Given the description of an element on the screen output the (x, y) to click on. 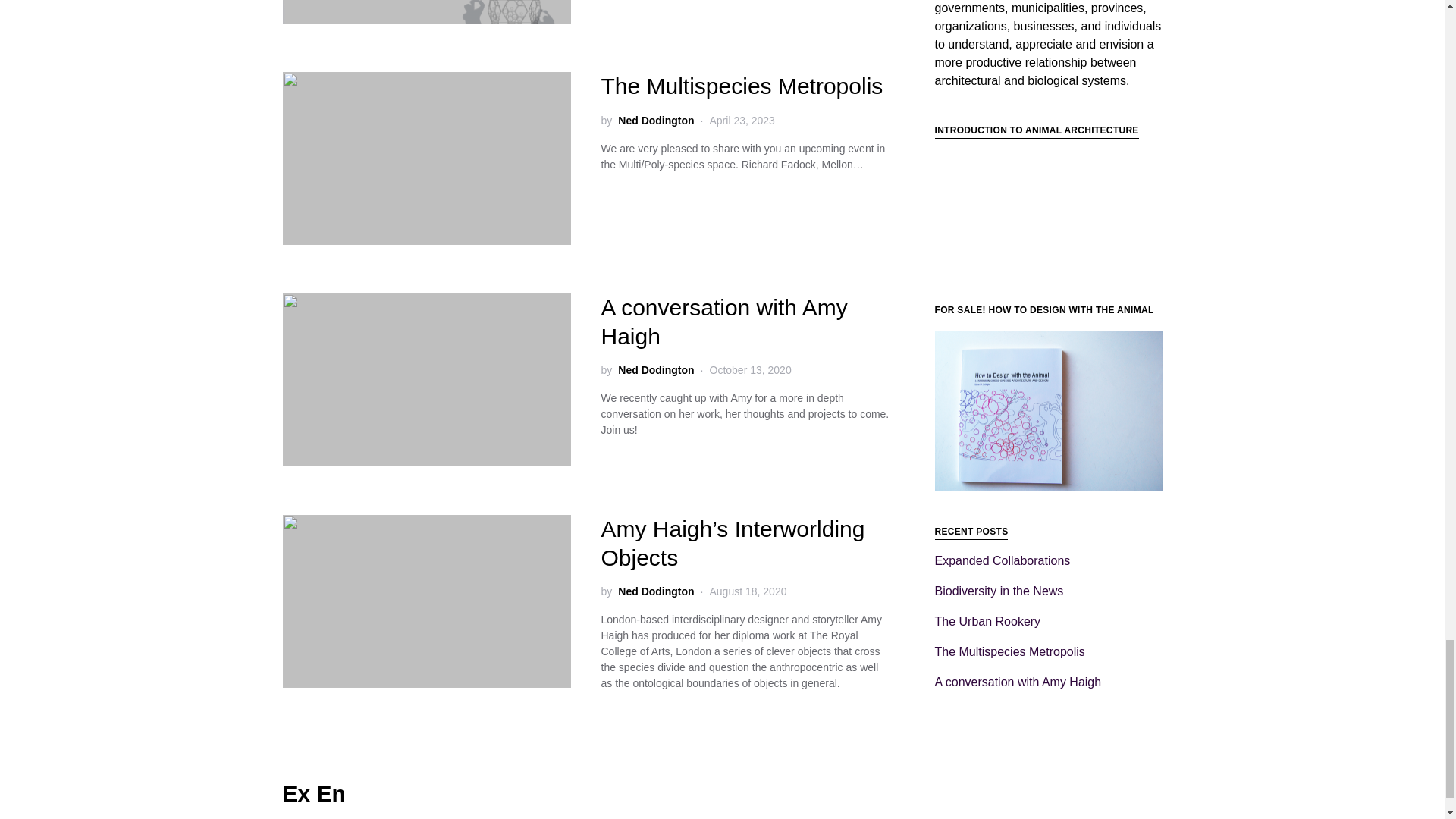
View all posts by Ned Dodington (655, 119)
View all posts by Ned Dodington (655, 591)
View all posts by Ned Dodington (655, 370)
